Given the description of an element on the screen output the (x, y) to click on. 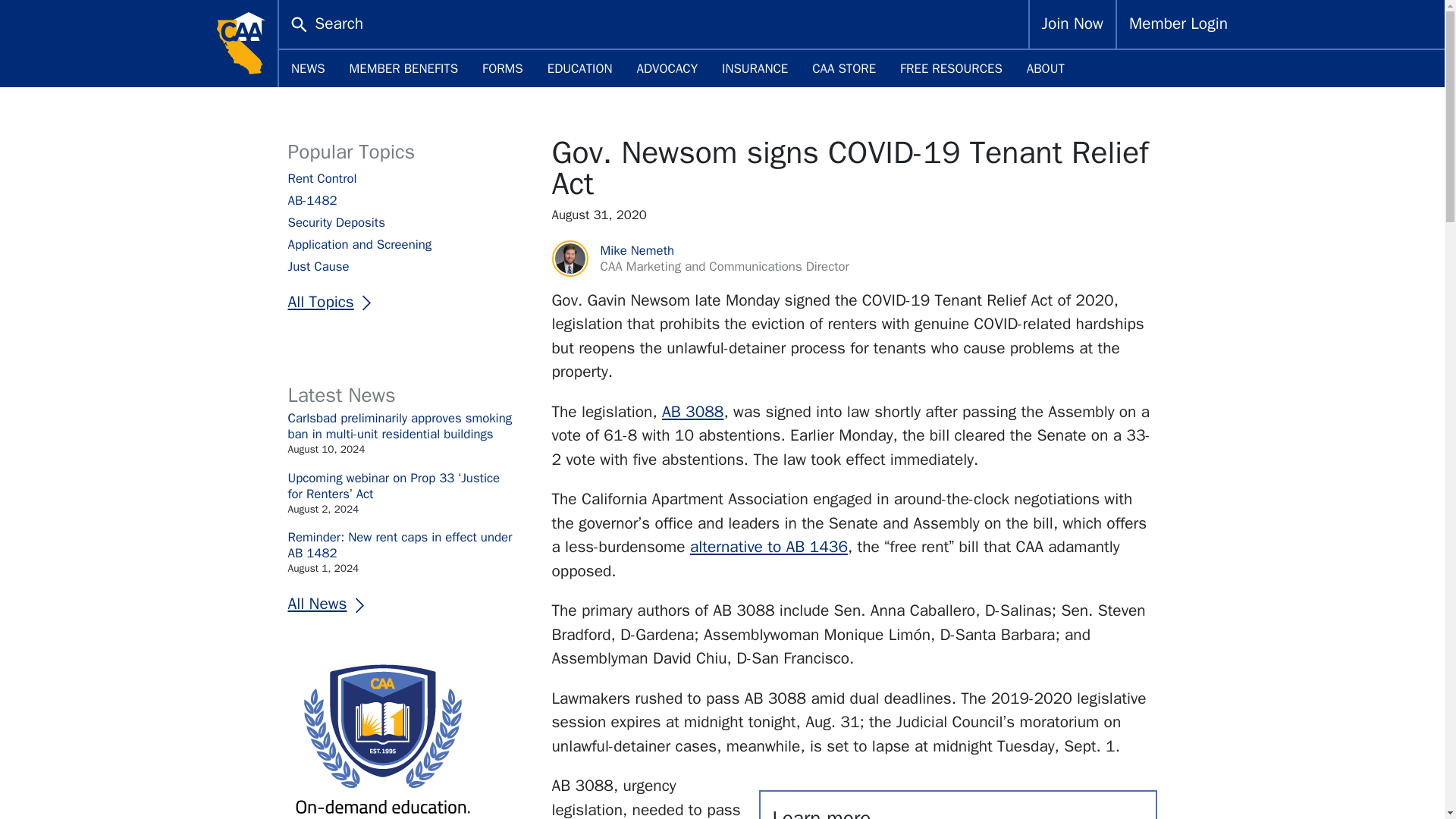
FREE RESOURCES (951, 67)
CAA STORE (843, 67)
FORMS (502, 67)
ADVOCACY (667, 67)
Join Now (1072, 24)
NEWS (308, 67)
August 31, 2020 at 10:30 pm (854, 214)
MEMBER BENEFITS (403, 67)
EDUCATION (579, 67)
Member Login (1178, 24)
